Given the description of an element on the screen output the (x, y) to click on. 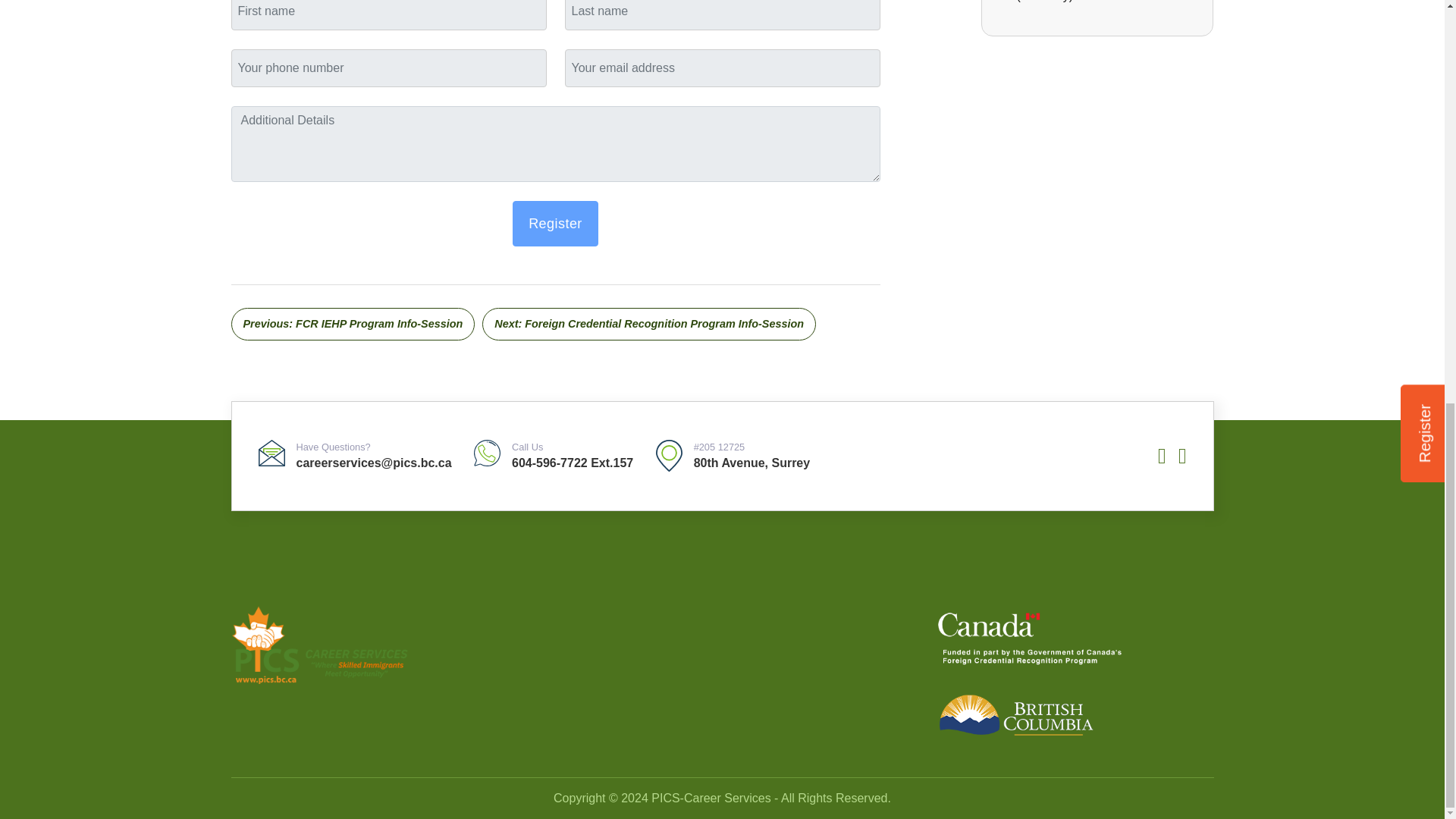
Previous: FCR IEHP Program Info-Session (352, 324)
80th Avenue, Surrey (752, 462)
Register (555, 223)
Next: Foreign Credential Recognition Program Info-Session (648, 324)
604-596-7722 Ext.157 (572, 462)
